Given the description of an element on the screen output the (x, y) to click on. 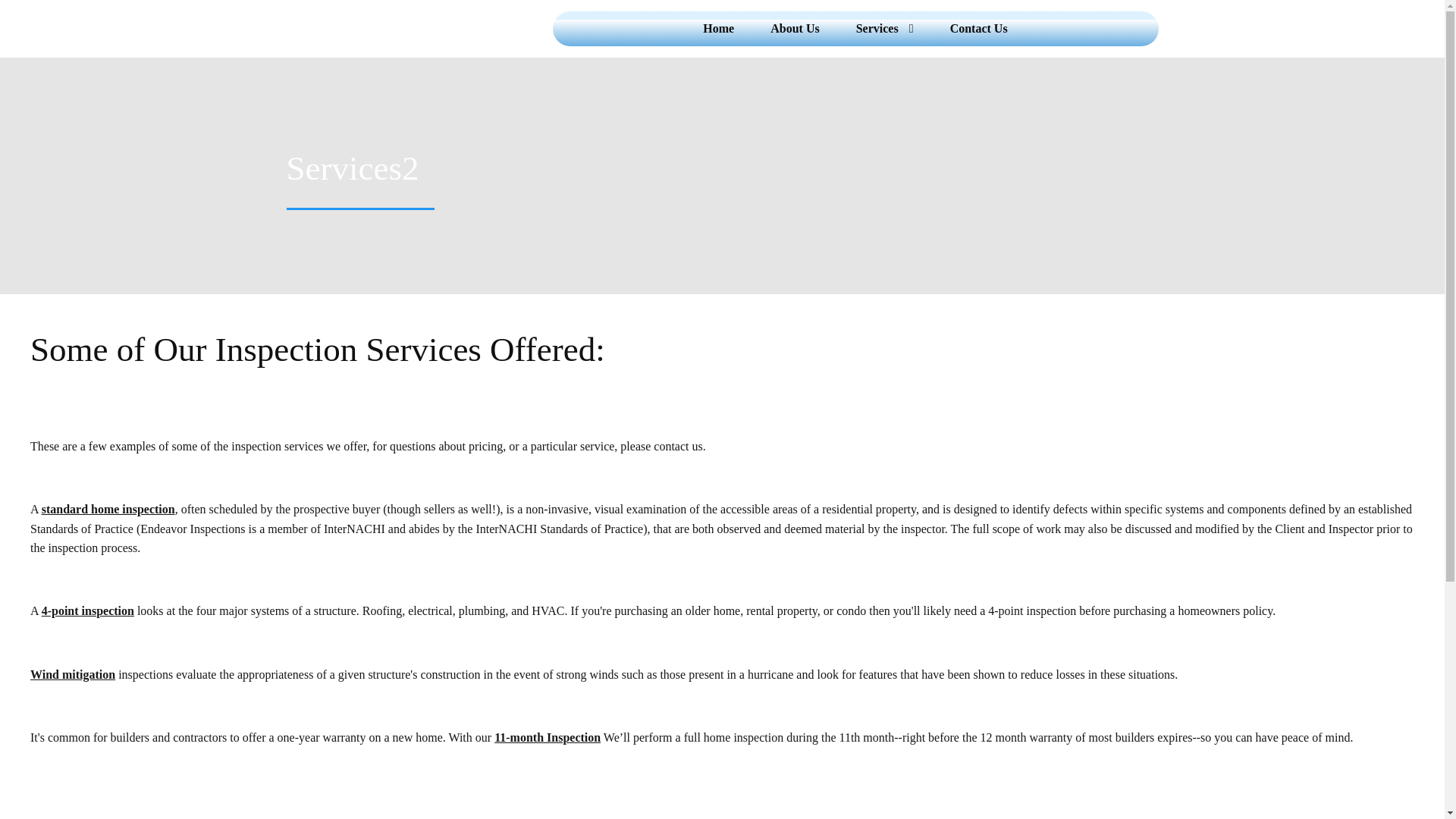
Services (885, 28)
Home (718, 28)
Contact Us (979, 28)
About Us (794, 28)
